Given the description of an element on the screen output the (x, y) to click on. 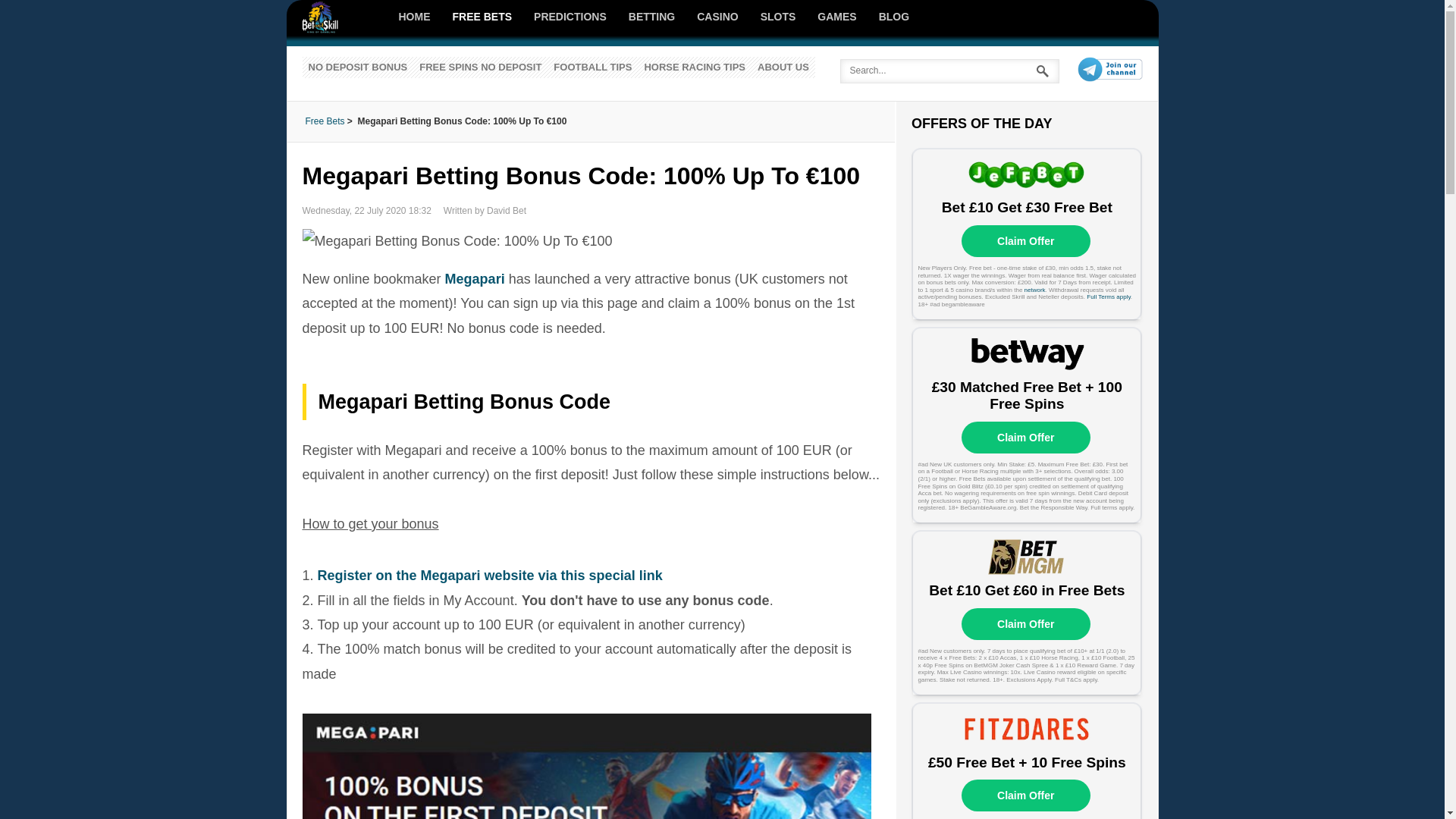
Predictions (569, 17)
BETTING (651, 17)
PREDICTIONS (569, 17)
Betting (651, 17)
Home (415, 17)
NO DEPOSIT BONUS (357, 66)
GAMES (836, 17)
Search... (949, 70)
CASINO (717, 17)
SLOTS (778, 17)
